Given the description of an element on the screen output the (x, y) to click on. 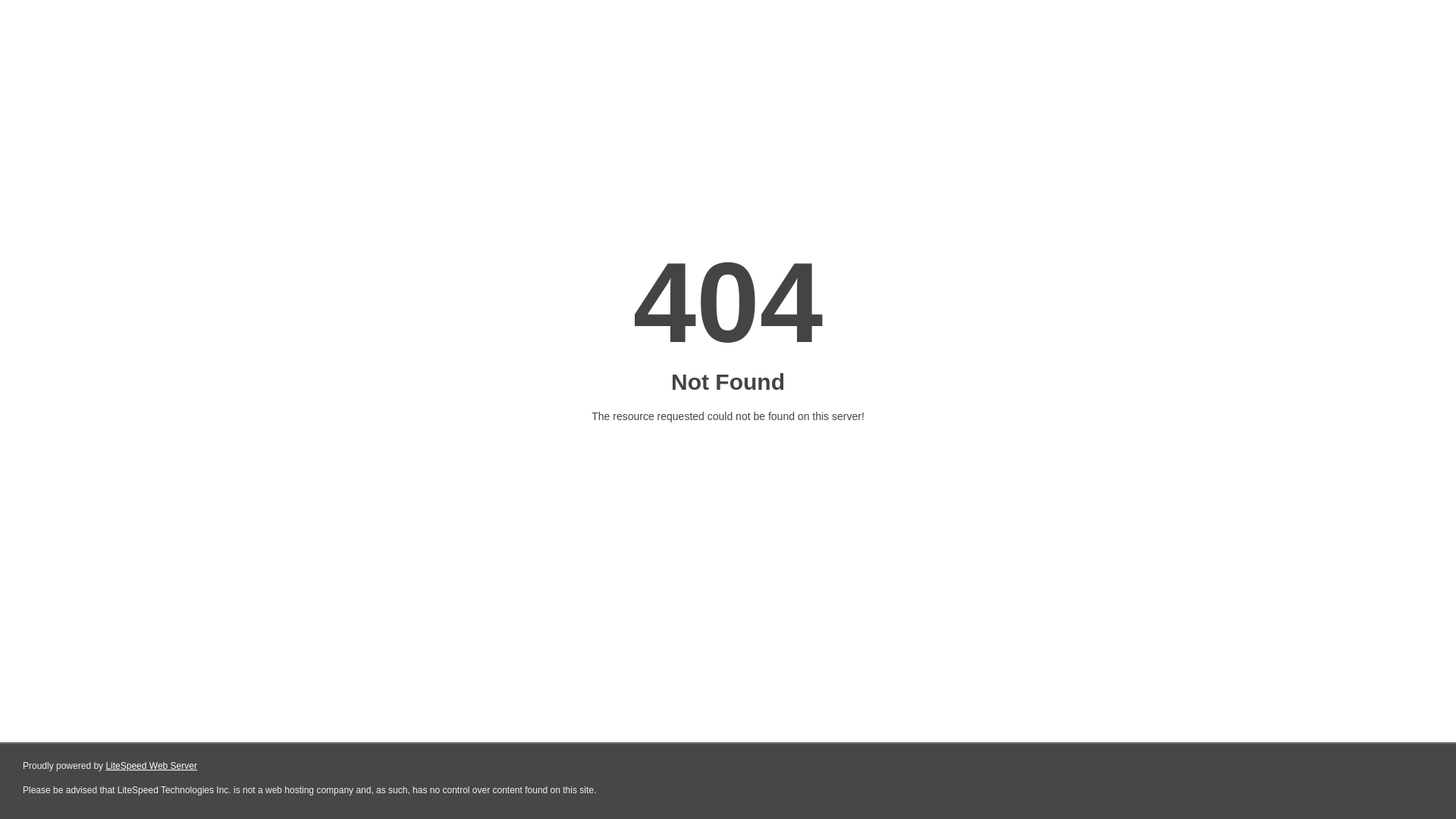
LiteSpeed Web Server (150, 765)
